Given the description of an element on the screen output the (x, y) to click on. 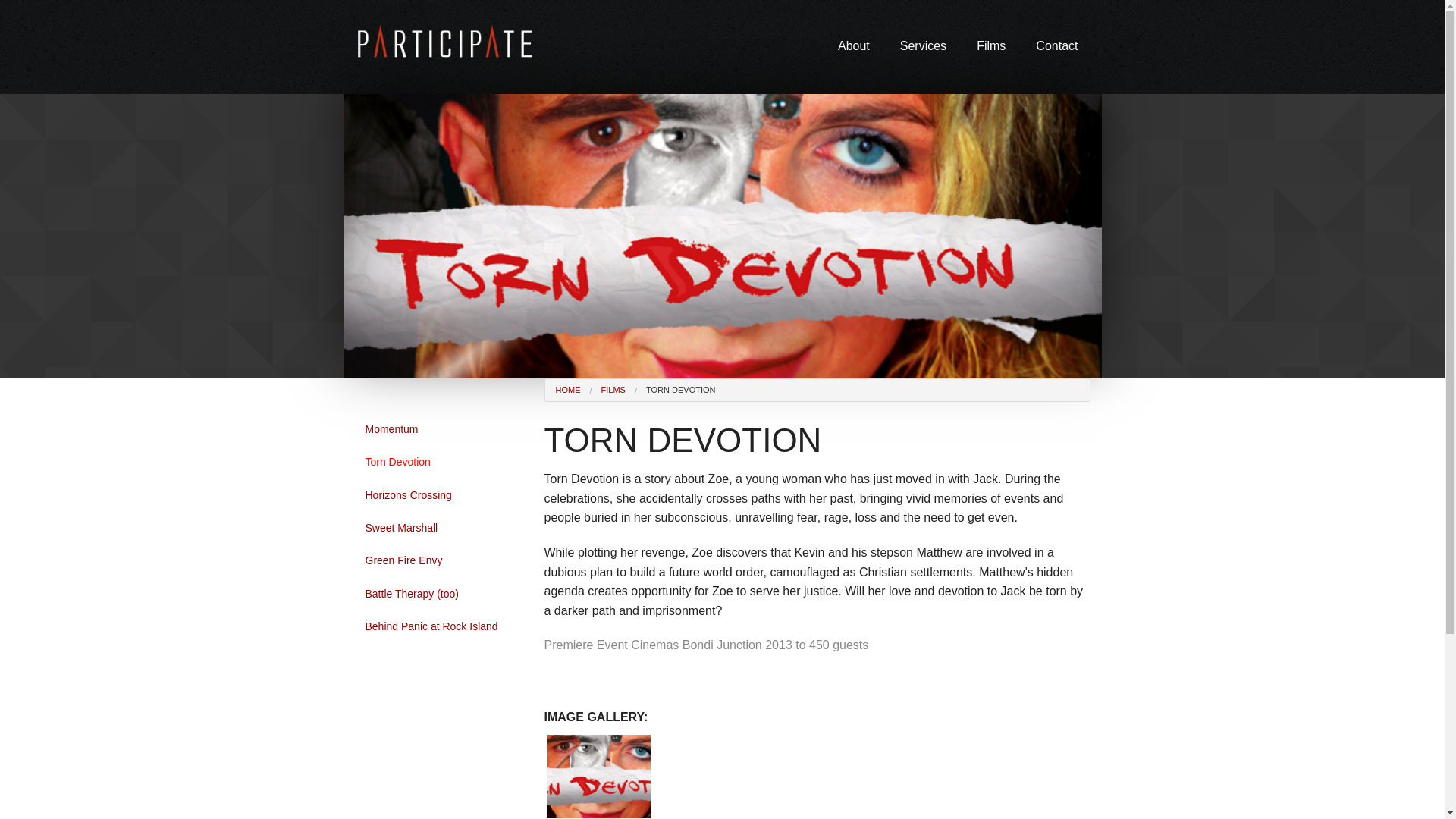
Films (990, 46)
Green Fire Envy (438, 560)
Horizons Crossing (438, 494)
HOME (566, 388)
Momentum (438, 429)
Services (923, 46)
FILMS (613, 388)
Contact (1056, 46)
Behind Panic at Rock Island (438, 625)
About (853, 46)
TORN DEVOTION (680, 388)
Horizons Crossing (438, 494)
Torn Devotion (438, 461)
Momentum (438, 429)
 Home (446, 44)
